Given the description of an element on the screen output the (x, y) to click on. 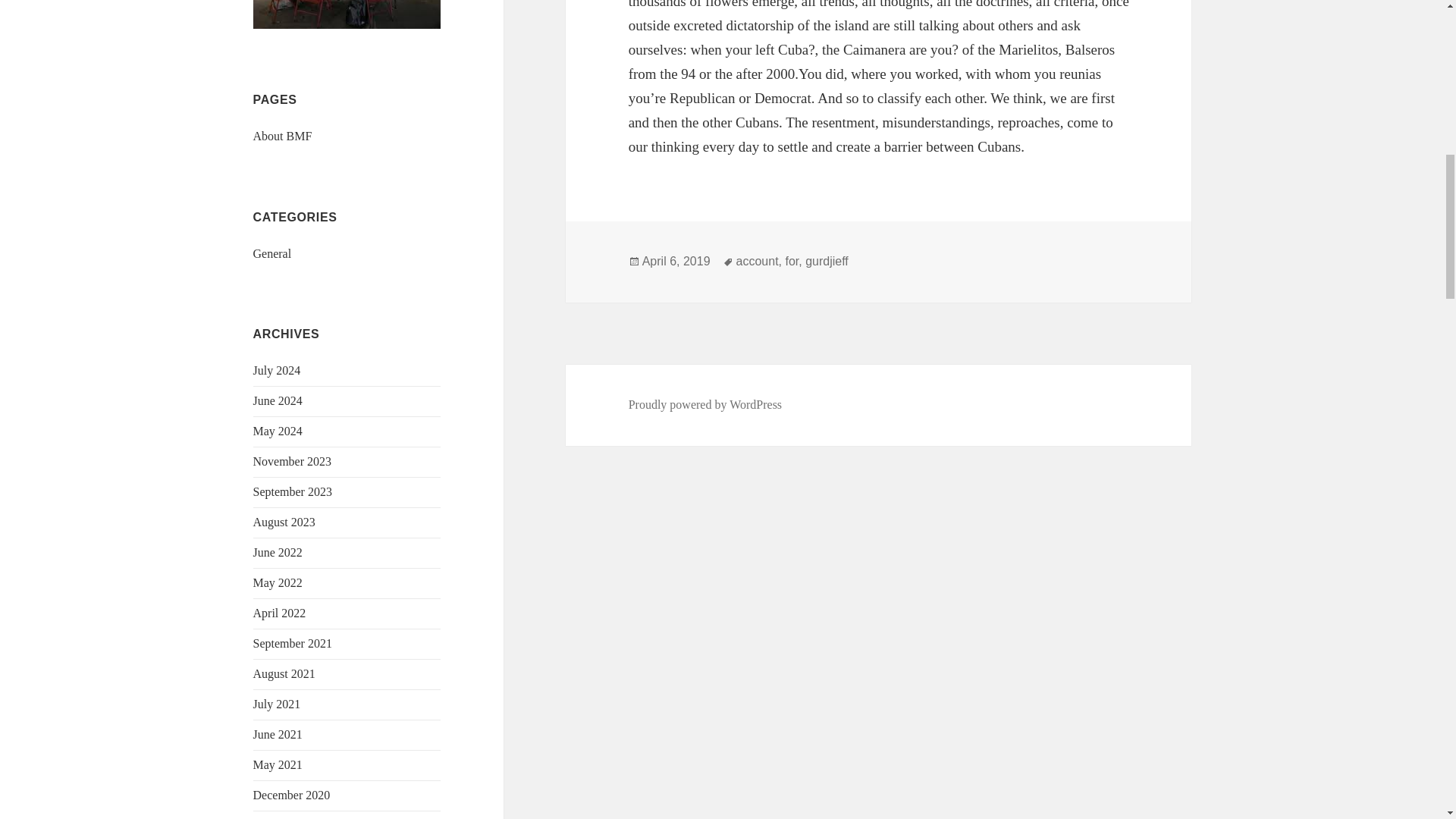
May 2022 (277, 582)
November 2023 (292, 461)
June 2021 (277, 734)
About BMF (283, 135)
General (272, 253)
December 2020 (291, 794)
August 2023 (284, 521)
June 2022 (277, 552)
July 2021 (277, 703)
September 2021 (292, 643)
May 2021 (277, 764)
June 2024 (277, 400)
July 2024 (277, 369)
May 2024 (277, 431)
September 2023 (292, 491)
